Given the description of an element on the screen output the (x, y) to click on. 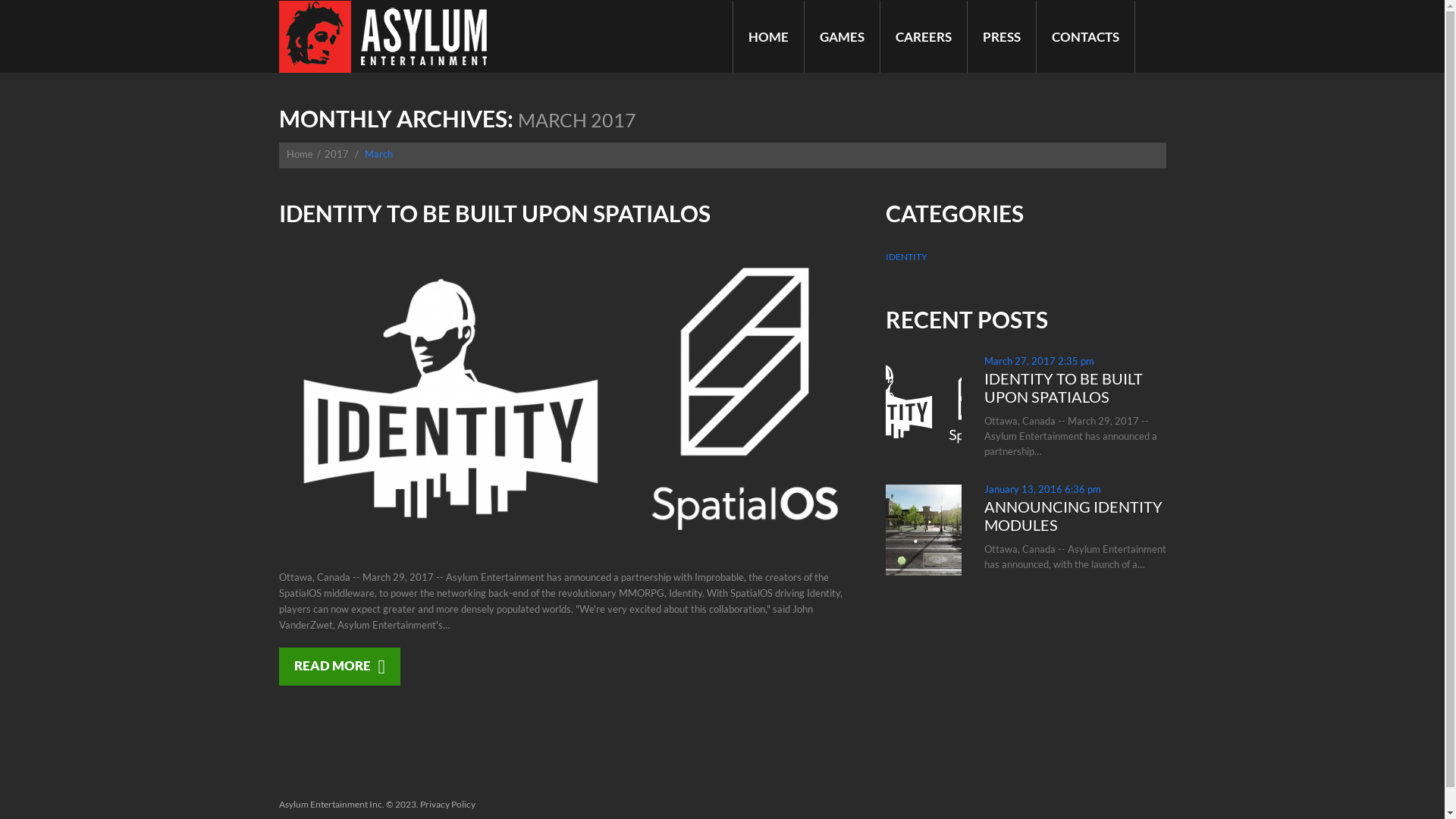
CONTACTS Element type: text (1084, 36)
IDENTITY TO BE BUILT UPON SPATIALOS Element type: text (494, 212)
ANNOUNCING IDENTITY MODULES Element type: text (1073, 515)
Home Element type: text (299, 153)
GAMES Element type: text (840, 36)
Go Element type: text (1071, 20)
Identity to be built upon SpatialOS Element type: hover (570, 398)
IDENTITY Element type: text (906, 256)
IDENTITY TO BE BUILT UPON SPATIALOS Element type: text (1063, 387)
Asylum Entertainment Inc. Element type: text (331, 803)
HOME Element type: text (767, 36)
PRESS Element type: text (1001, 36)
CAREERS Element type: text (922, 36)
2017 Element type: text (336, 153)
READ MORE Element type: text (340, 666)
Privacy Policy Element type: text (447, 803)
